Given the description of an element on the screen output the (x, y) to click on. 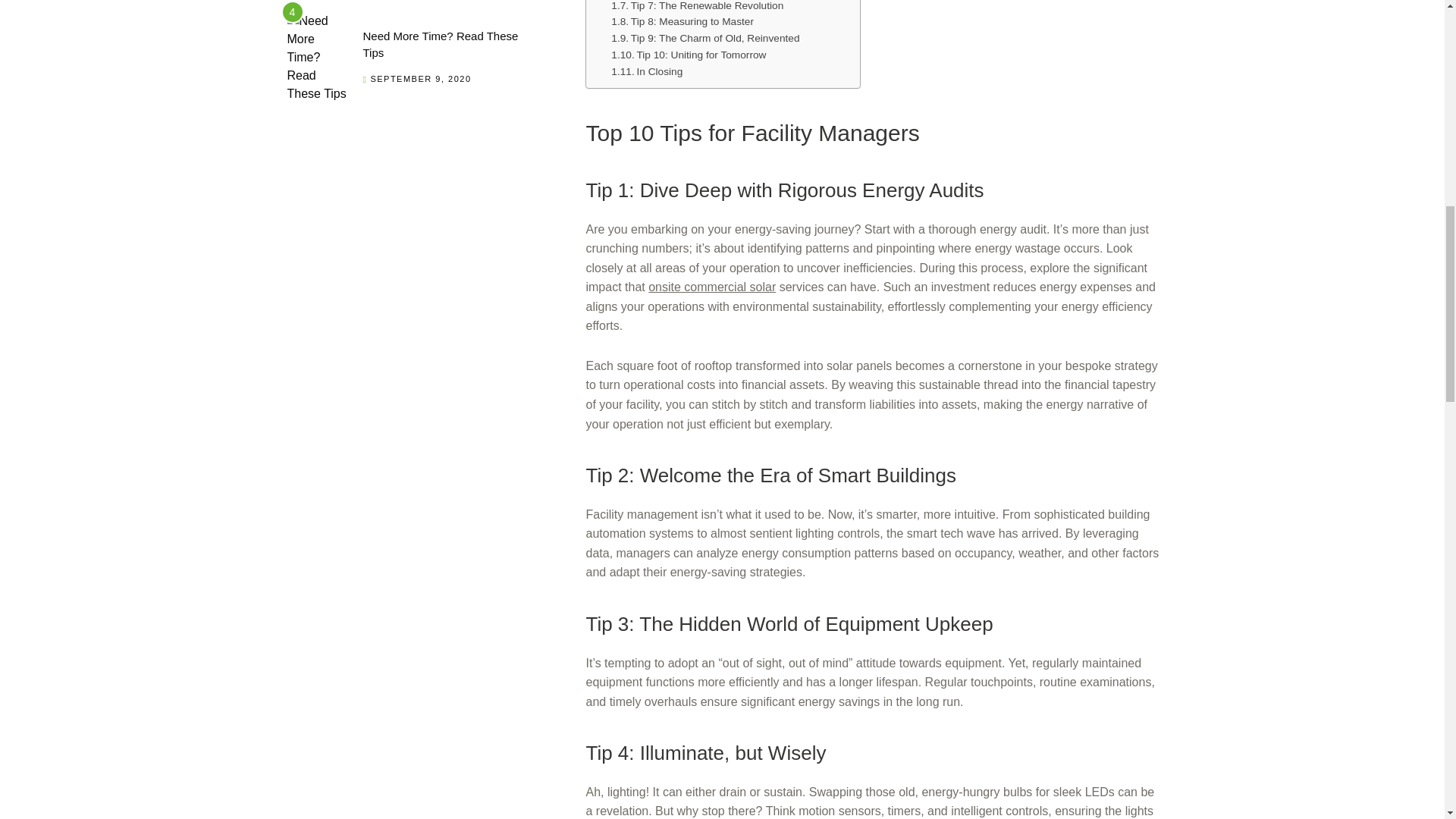
Tip 9: The Charm of Old, Reinvented (705, 38)
Tip 7: The Renewable Revolution (697, 7)
onsite commercial solar (711, 286)
Tip 9: The Charm of Old, Reinvented (705, 38)
Tip 8: Measuring to Master (682, 21)
Tip 10: Uniting for Tomorrow (688, 54)
In Closing (646, 71)
Tip 7: The Renewable Revolution (697, 7)
Tip 8: Measuring to Master (682, 21)
Tip 10: Uniting for Tomorrow (688, 54)
